Given the description of an element on the screen output the (x, y) to click on. 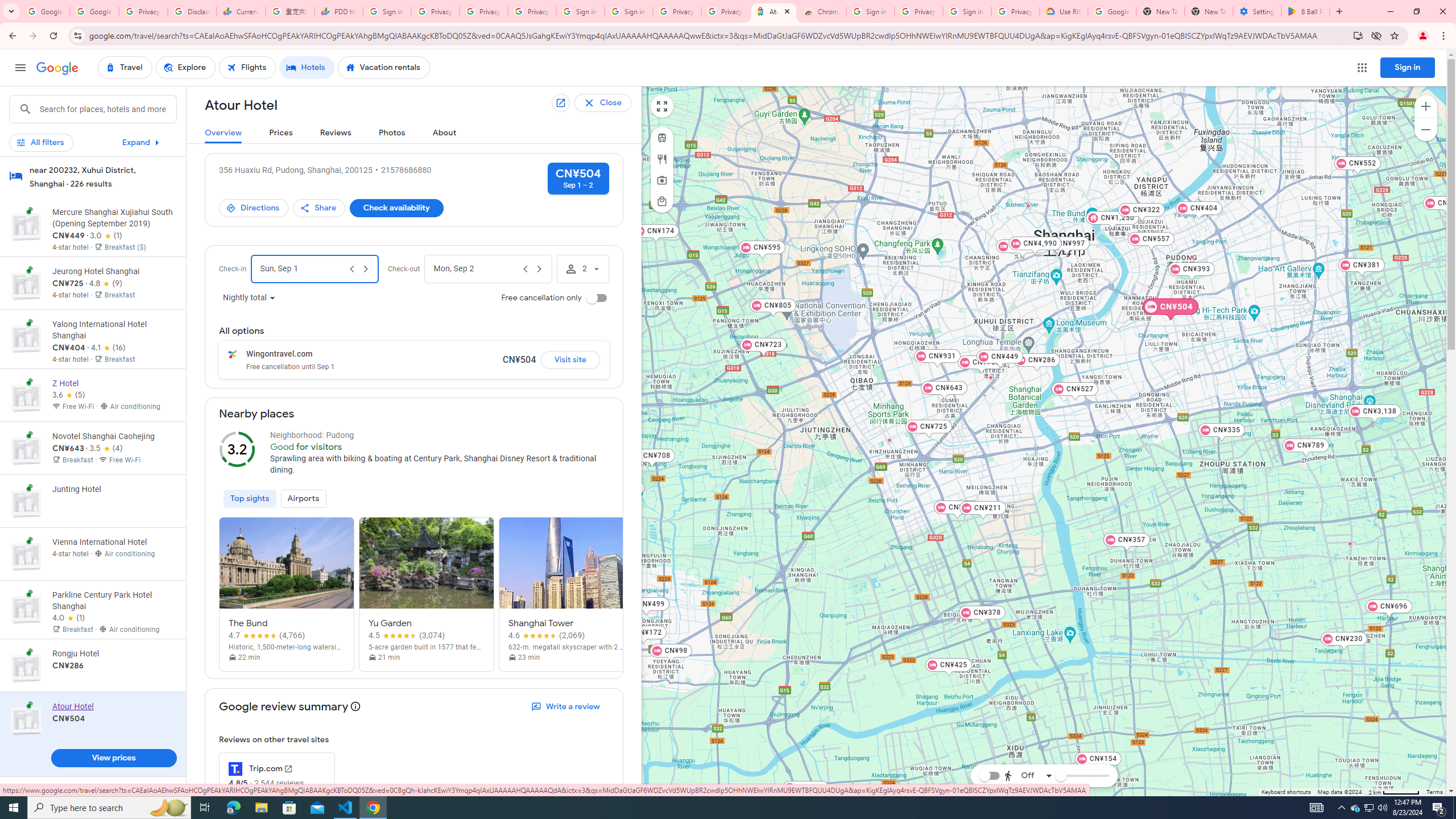
More info (355, 707)
Settings - System (1257, 11)
Write a review (566, 706)
4 out of 5 stars from 1 reviews (68, 618)
View prices for Atour Hotel (113, 760)
Vacation rentals (383, 67)
Zoom in map (1425, 106)
